Given the description of an element on the screen output the (x, y) to click on. 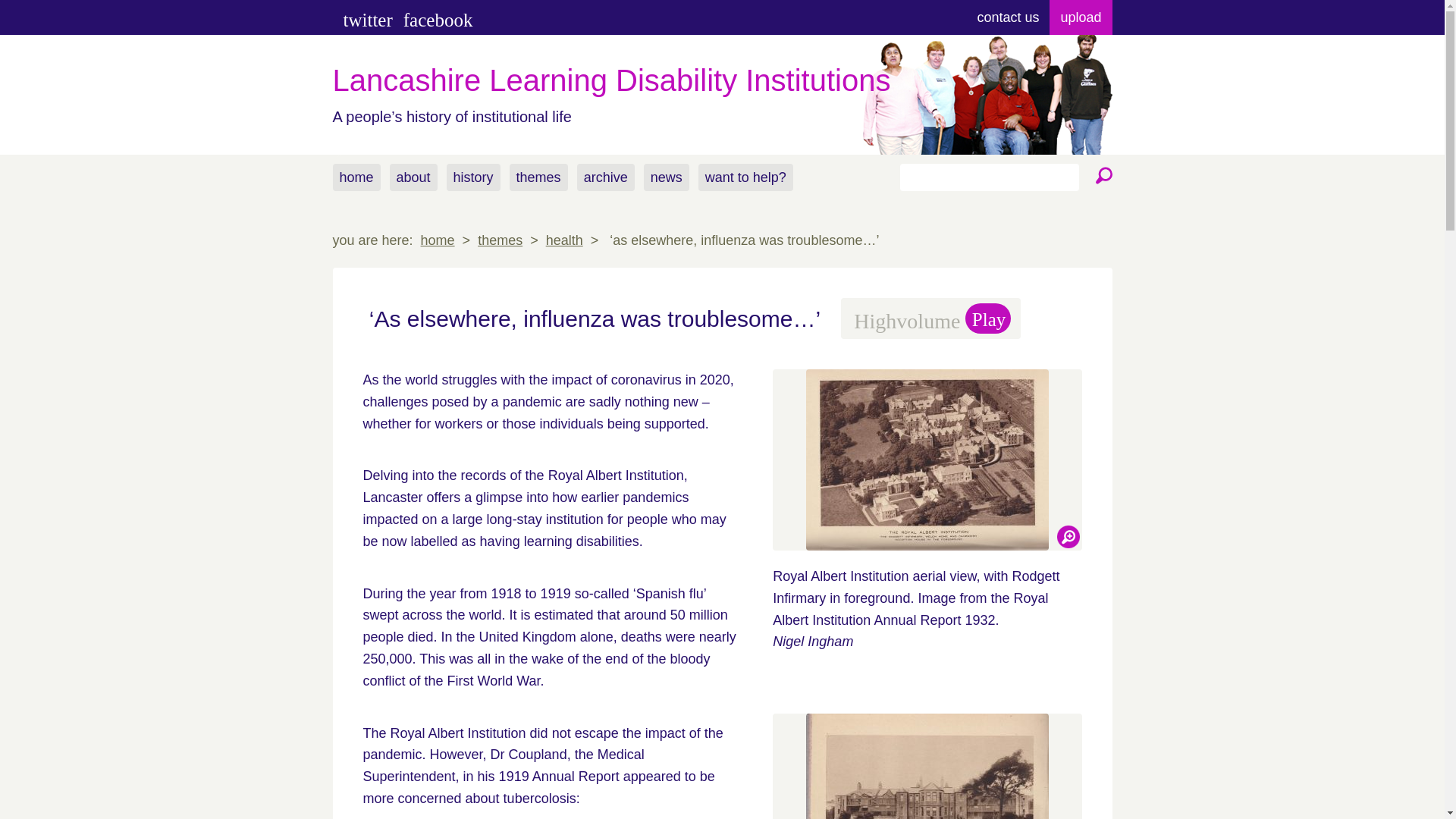
archive (605, 176)
history (473, 176)
Go (1100, 175)
twitter (366, 19)
facebook (438, 19)
Search Lancashire Learning Disability Institutions (1100, 175)
upload (1079, 17)
about (414, 176)
Rodgett Infirmary RAI 1930 (927, 766)
want to help? (745, 176)
news (665, 176)
home (437, 240)
Lancashire Learning Disability Institutions (721, 80)
Go (1100, 175)
